Given the description of an element on the screen output the (x, y) to click on. 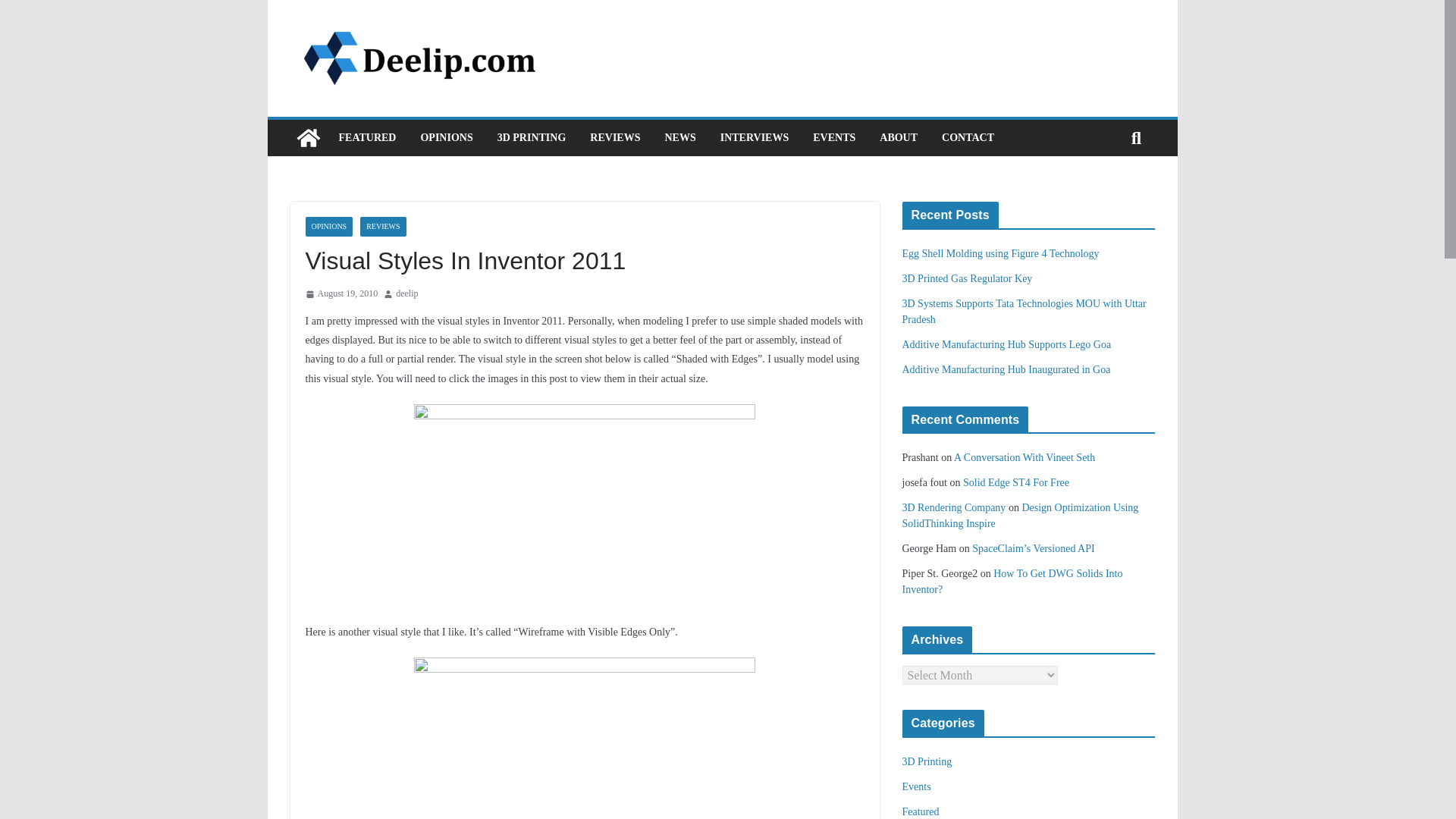
Egg Shell Molding using Figure 4 Technology (1000, 253)
INTERVIEWS (754, 137)
3D Rendering Company (954, 507)
OPINIONS (328, 226)
Solid Edge ST4 For Free (1015, 482)
Deelip.com (307, 137)
REVIEWS (382, 226)
11:48 am (340, 293)
NEWS (679, 137)
deelip (406, 293)
EVENTS (834, 137)
3D PRINTING (531, 137)
3D Printing (927, 761)
How To Get DWG Solids Into Inventor? (1012, 581)
August 19, 2010 (340, 293)
